Given the description of an element on the screen output the (x, y) to click on. 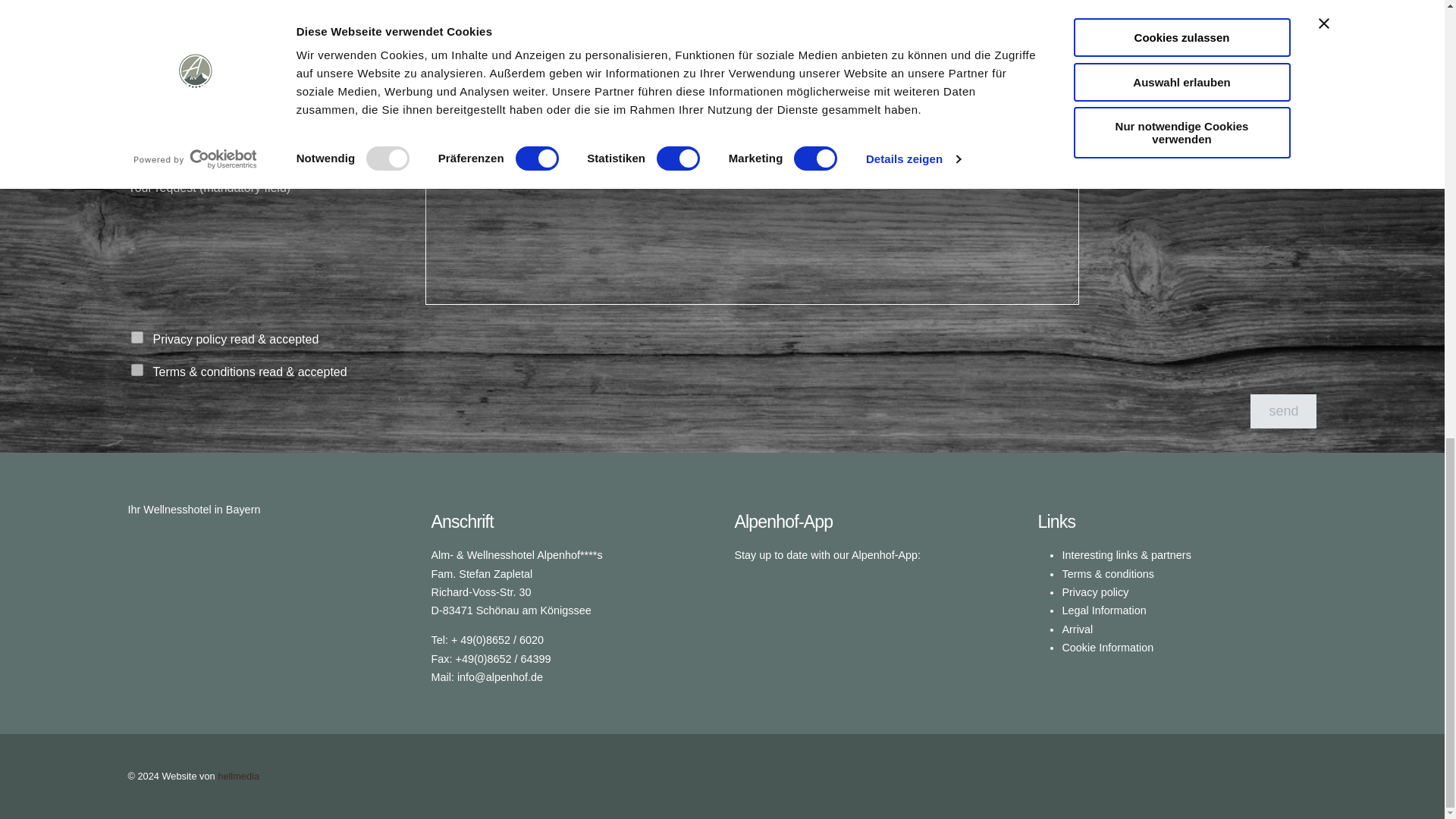
1 (136, 337)
send (1283, 410)
1 (136, 369)
